Given the description of an element on the screen output the (x, y) to click on. 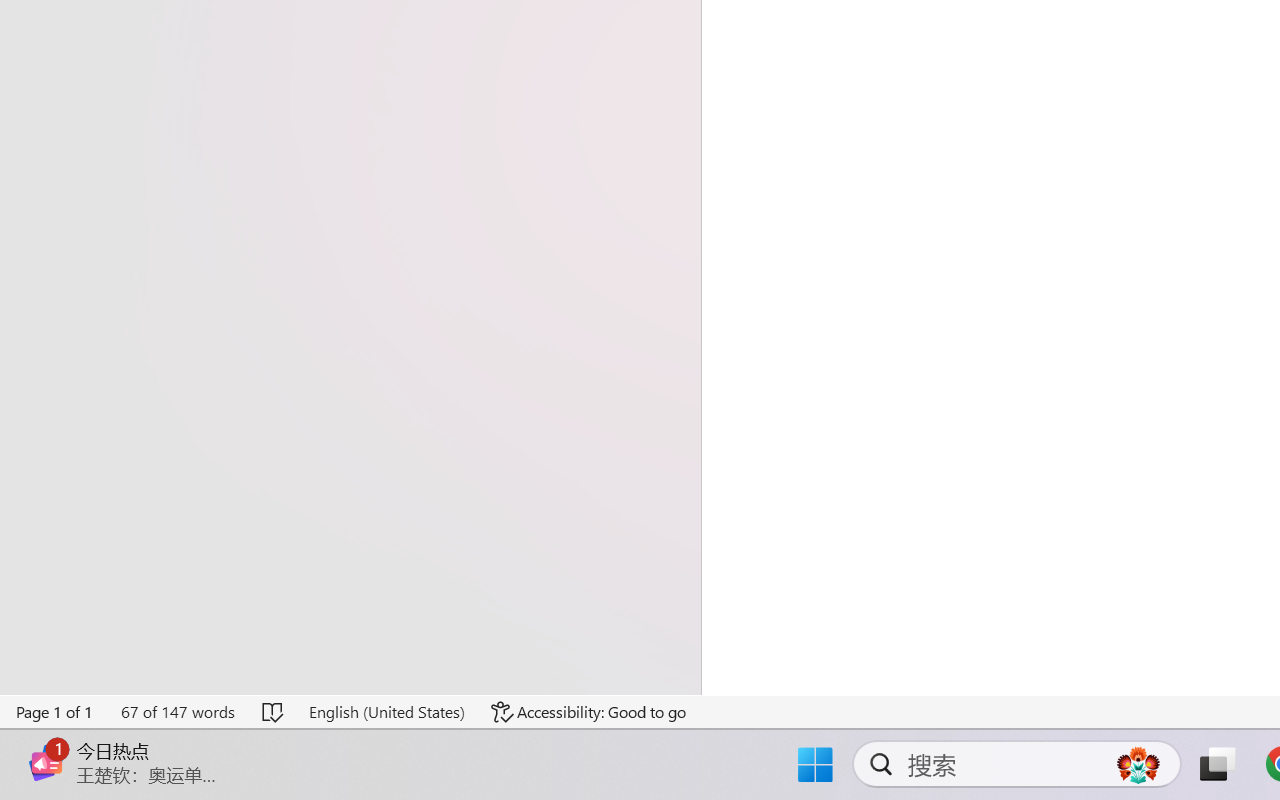
Page Number Page 1 of 1 (55, 712)
